Given the description of an element on the screen output the (x, y) to click on. 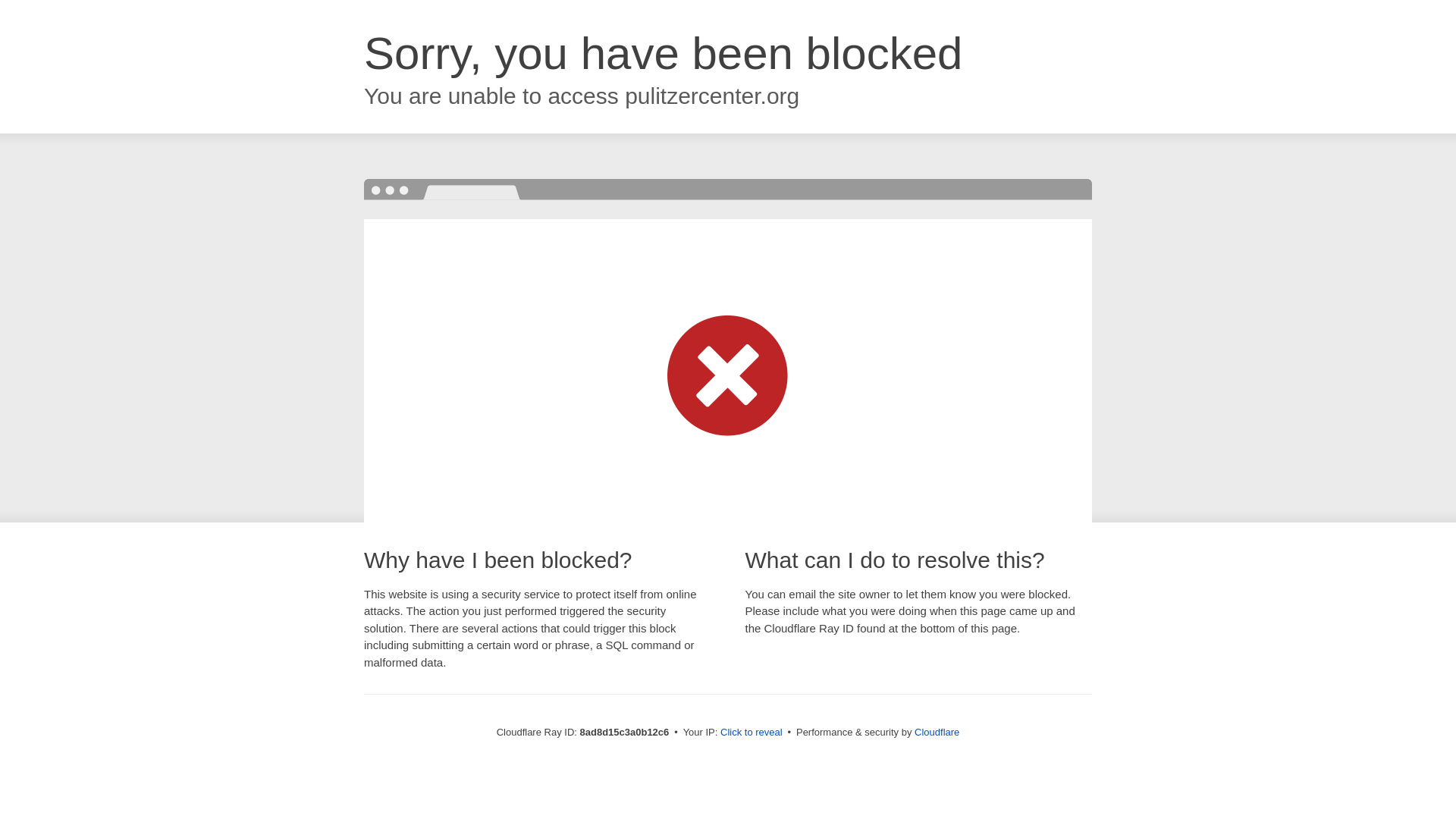
Click to reveal (751, 732)
Cloudflare (936, 731)
